Given the description of an element on the screen output the (x, y) to click on. 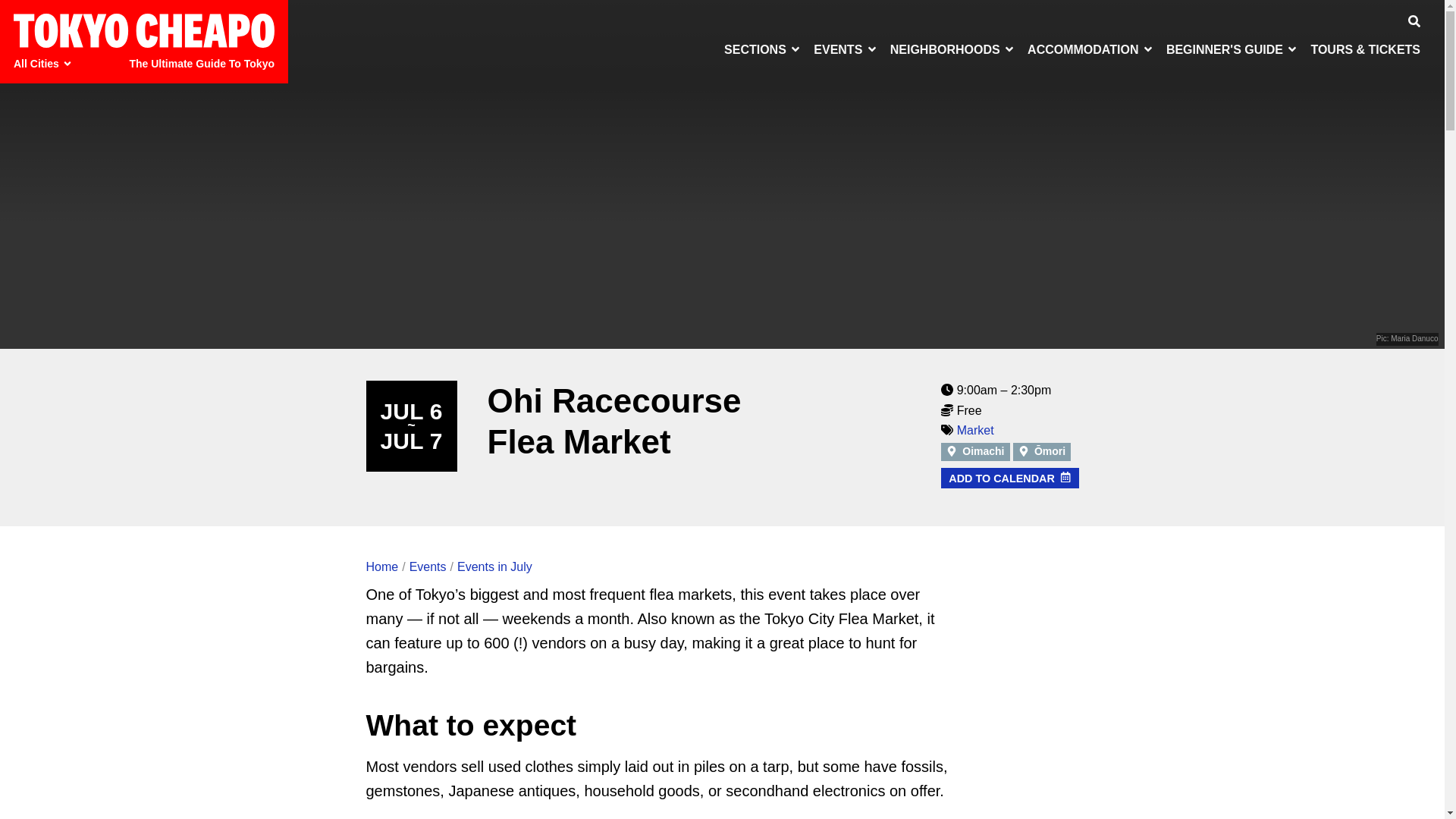
All Cities (45, 64)
SECTIONS (762, 49)
Sections (762, 49)
Search (1414, 22)
EVENTS (845, 49)
Tokyo Cheapo Homepage (144, 29)
Tokyo Cheapo (144, 30)
NEIGHBORHOODS (952, 49)
